Given the description of an element on the screen output the (x, y) to click on. 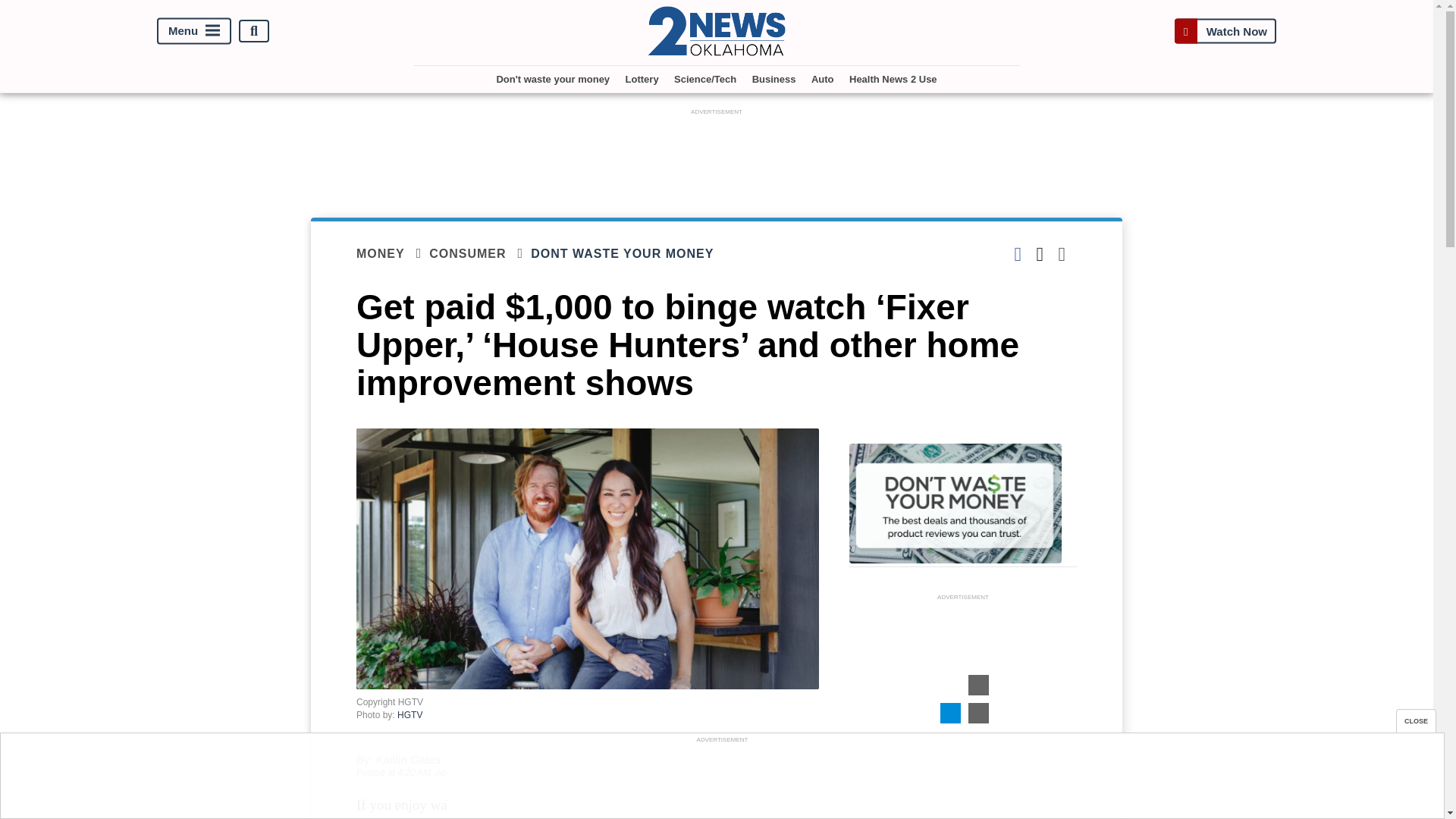
3rd party ad content (721, 780)
Menu (194, 31)
Watch Now (1224, 31)
3rd party ad content (716, 152)
3rd party ad content (962, 698)
